Given the description of an element on the screen output the (x, y) to click on. 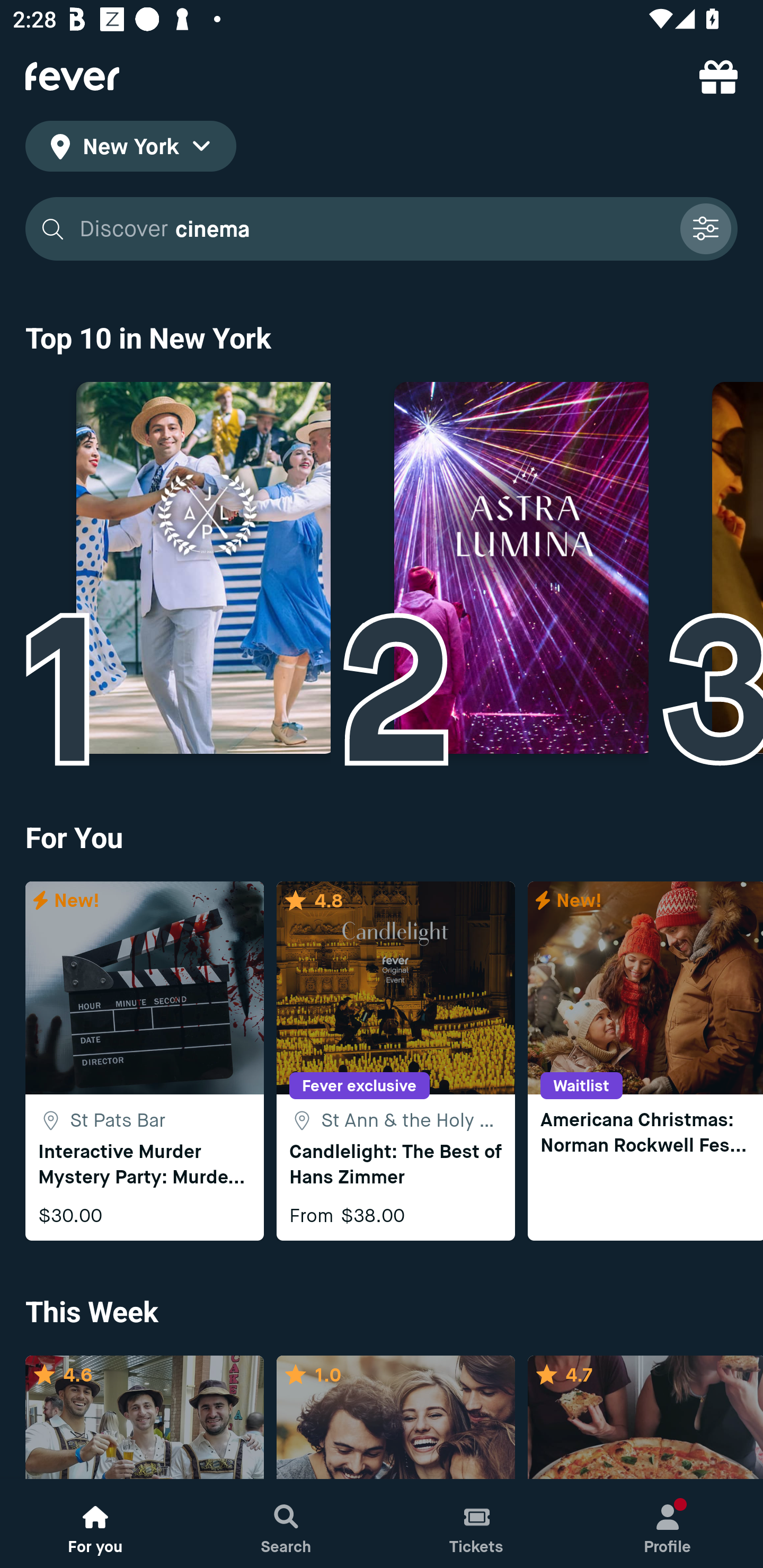
referral (718, 75)
location icon New York location icon (130, 149)
Discover cinema (381, 228)
Discover cinema (373, 228)
cover image 50.0 4.6 (144, 1417)
cover image 50.0 1.0 (395, 1417)
cover image 50.0 4.7 (645, 1417)
Search (285, 1523)
Tickets (476, 1523)
Profile, New notification Profile (667, 1523)
